Given the description of an element on the screen output the (x, y) to click on. 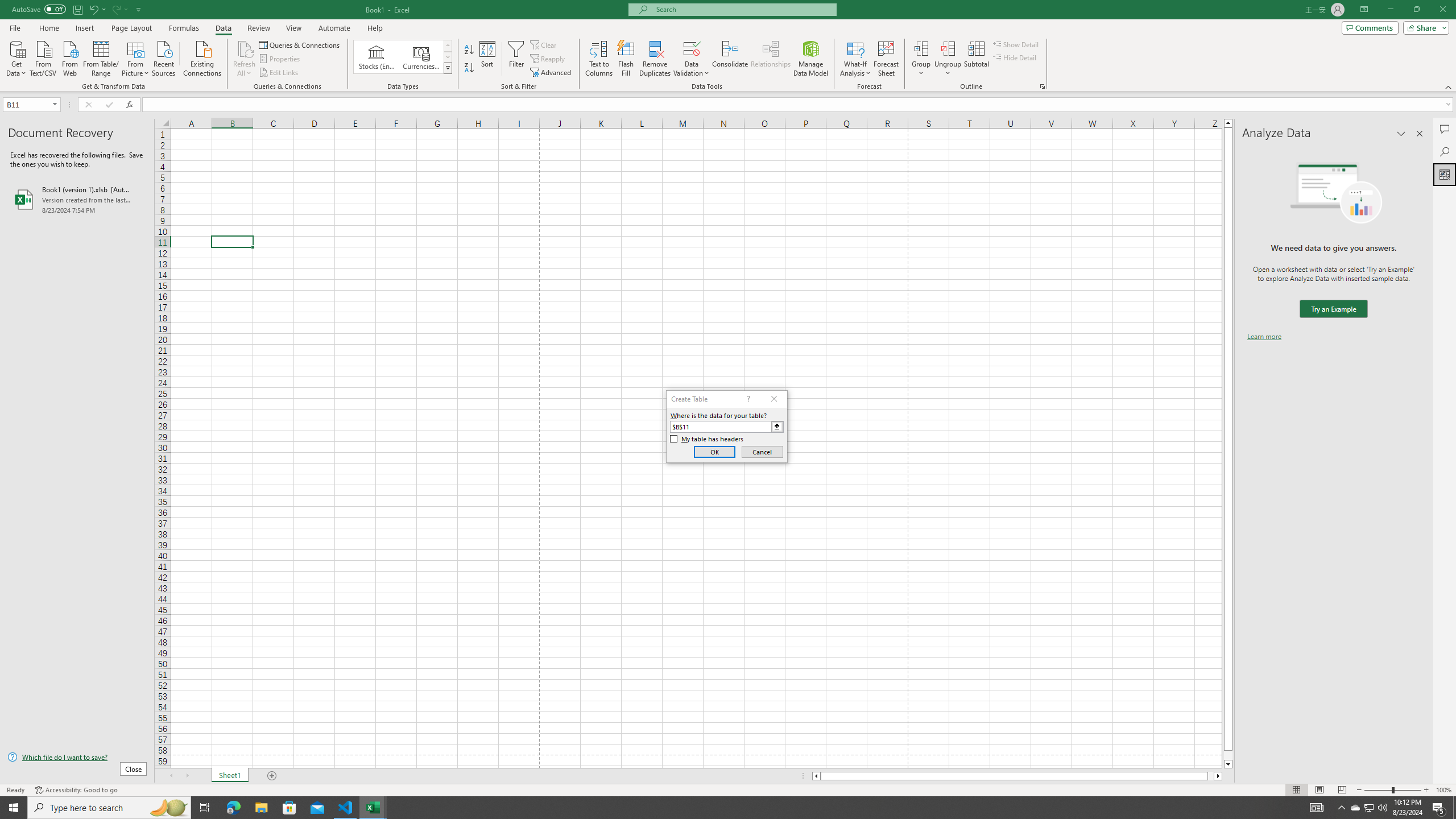
Formula Bar (799, 104)
Which file do I want to save? (77, 757)
Sort Z to A (469, 67)
Group and Outline Settings (1042, 85)
Get Data (16, 57)
Properties (280, 58)
Class: NetUIImage (447, 68)
From Picture (135, 57)
